Given the description of an element on the screen output the (x, y) to click on. 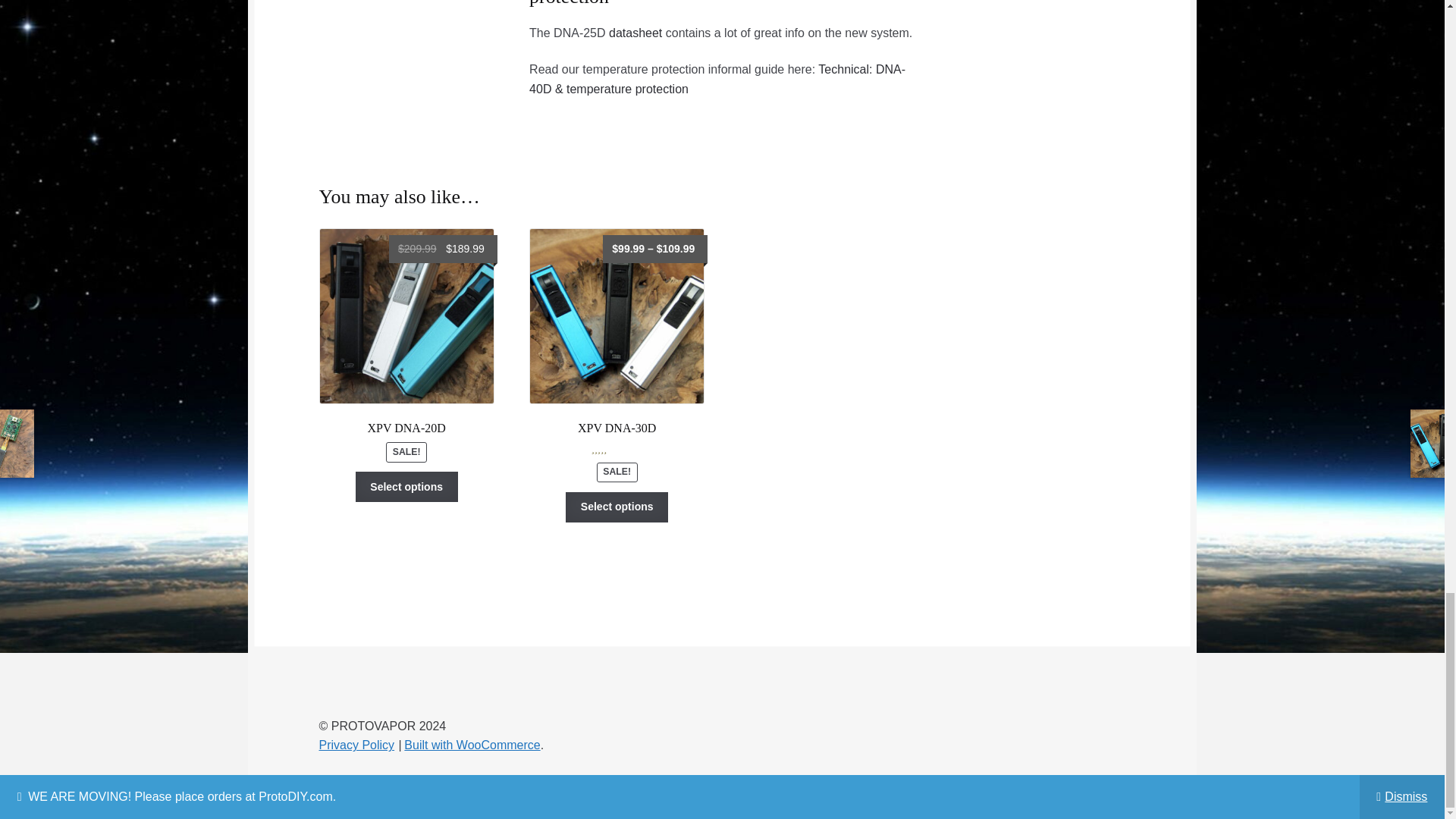
WooCommerce - The Best eCommerce Platform for WordPress (472, 744)
